Given the description of an element on the screen output the (x, y) to click on. 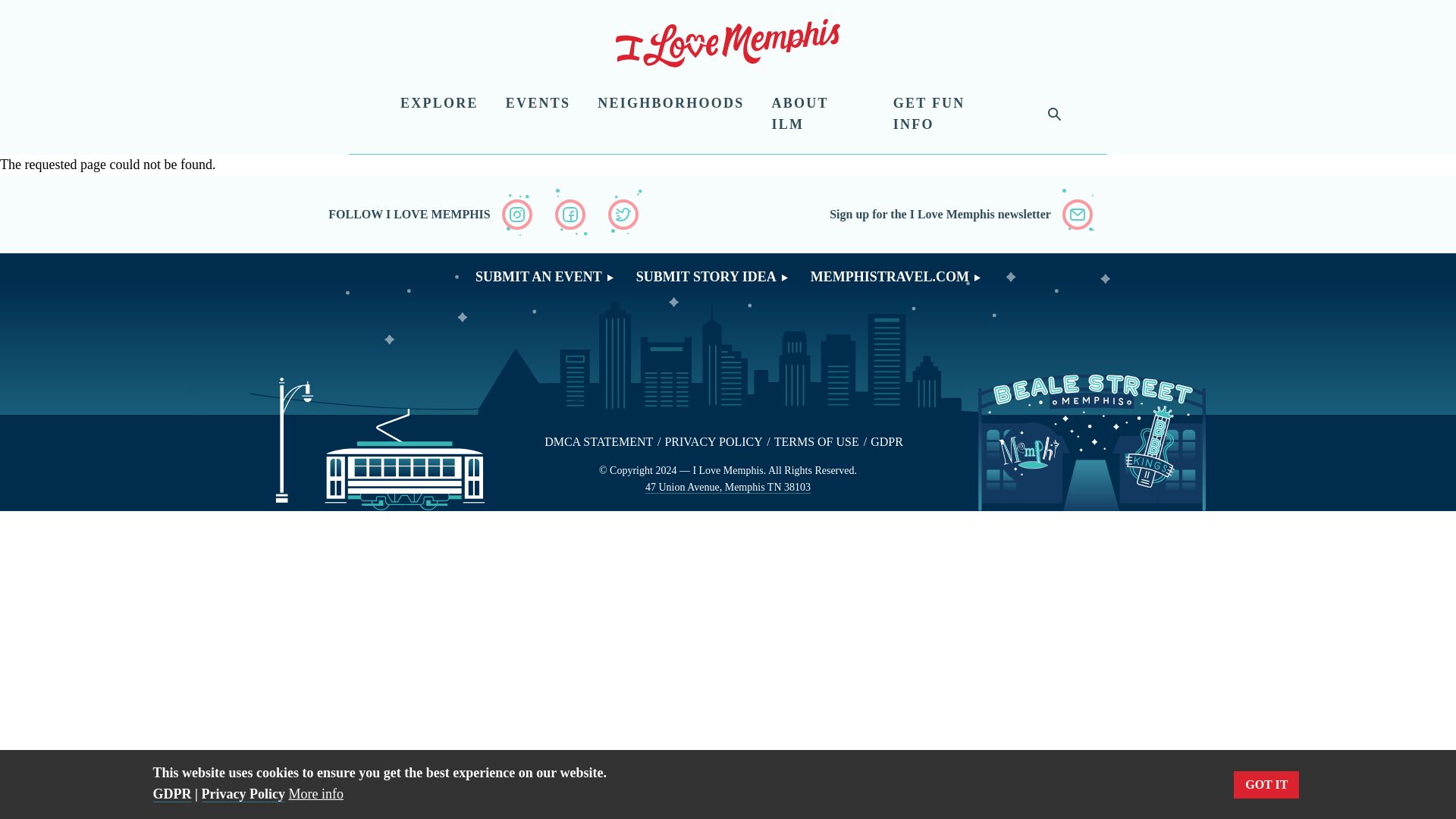
I Love Memphis Logo (727, 42)
GDPR  (886, 441)
MemphisTravel.com:Home (727, 46)
EXPLORE (439, 103)
I Love Memphis Logo (727, 46)
Search (1018, 132)
